Given the description of an element on the screen output the (x, y) to click on. 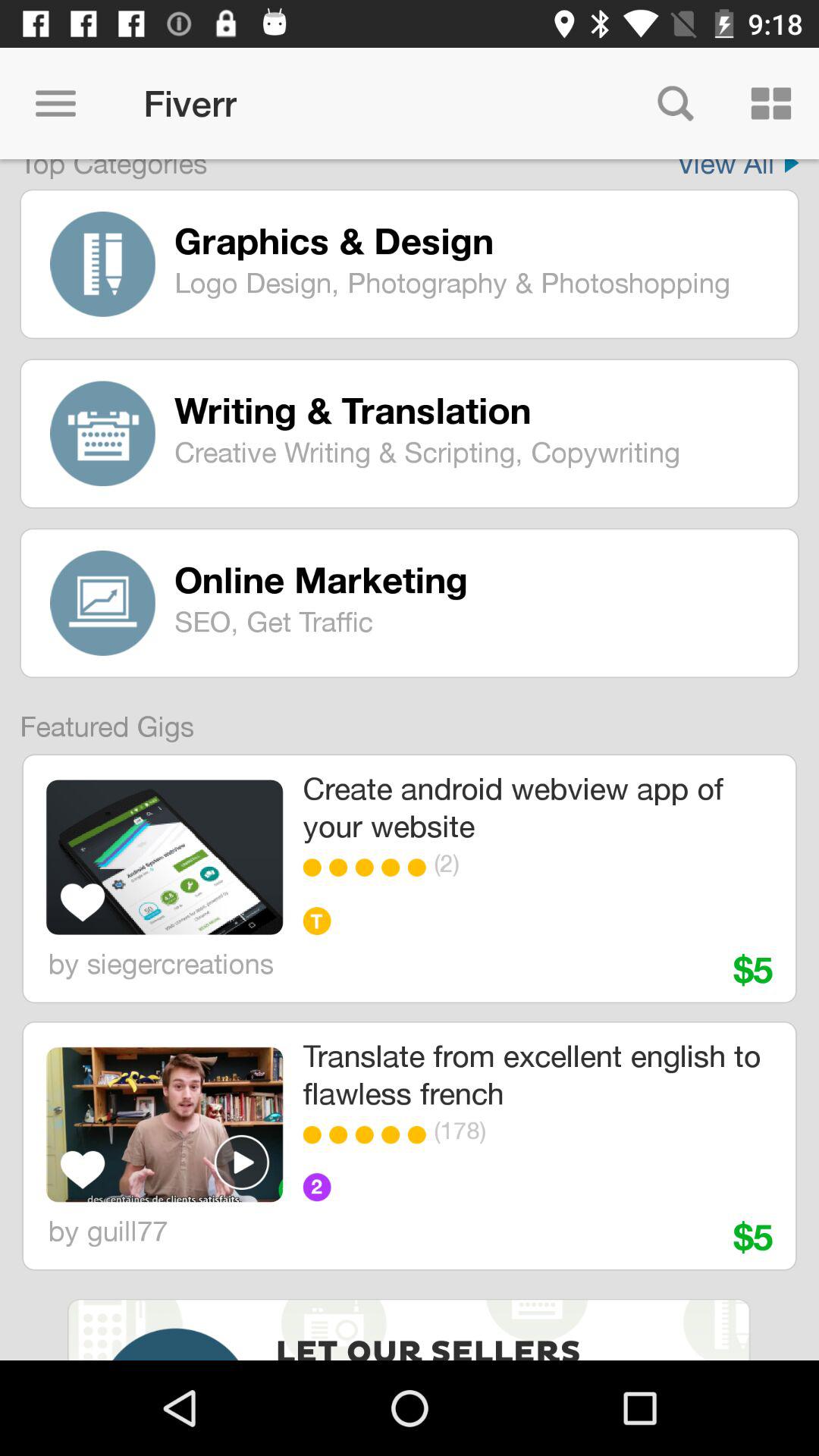
choose the item below the translate from excellent icon (420, 1134)
